Given the description of an element on the screen output the (x, y) to click on. 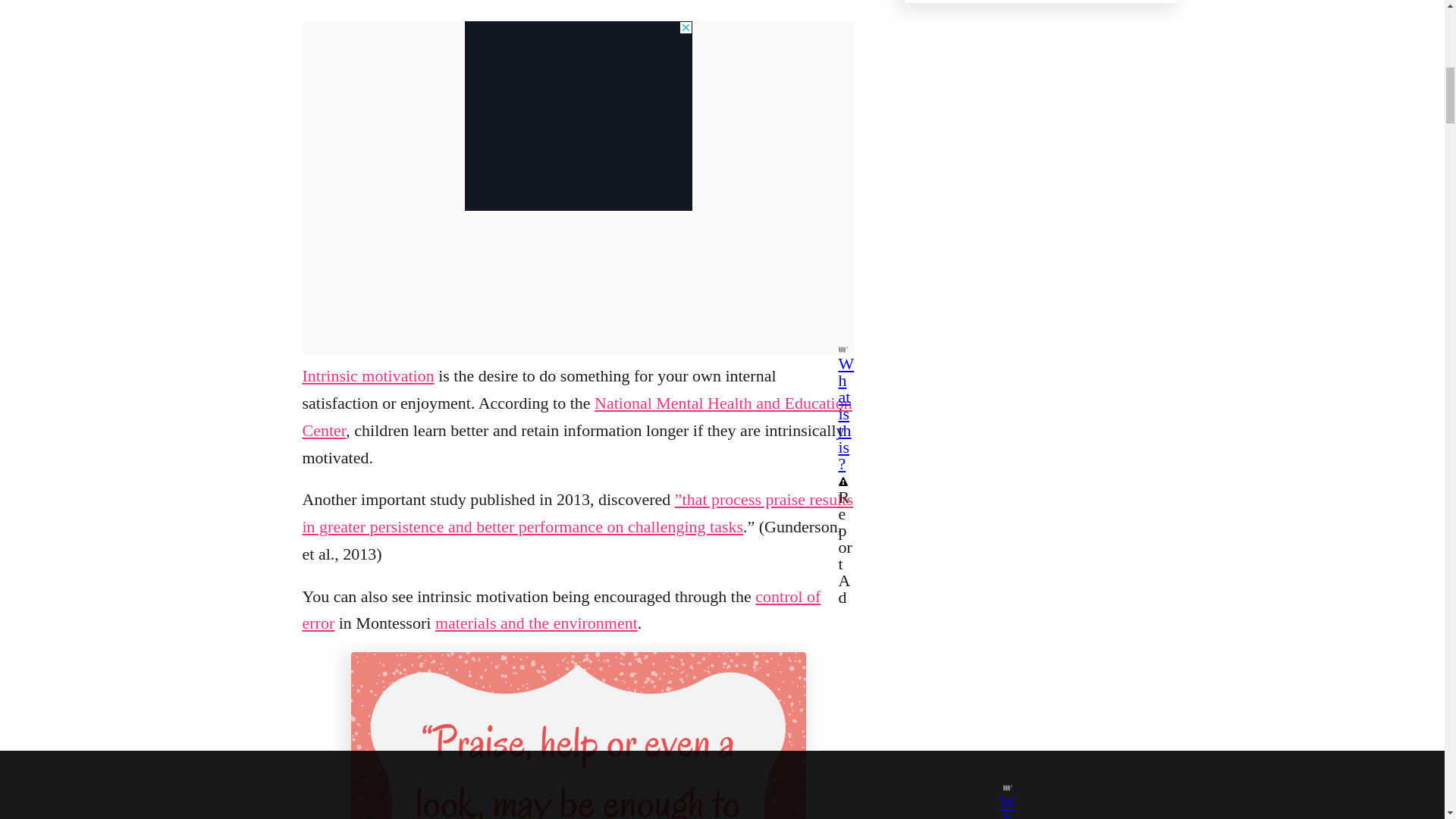
control of error (561, 610)
materials and the environment (536, 622)
Intrinsic motivation (367, 375)
National Mental Health and Education Center (576, 416)
3rd party ad content (577, 115)
3rd party ad content (1040, 135)
